Given the description of an element on the screen output the (x, y) to click on. 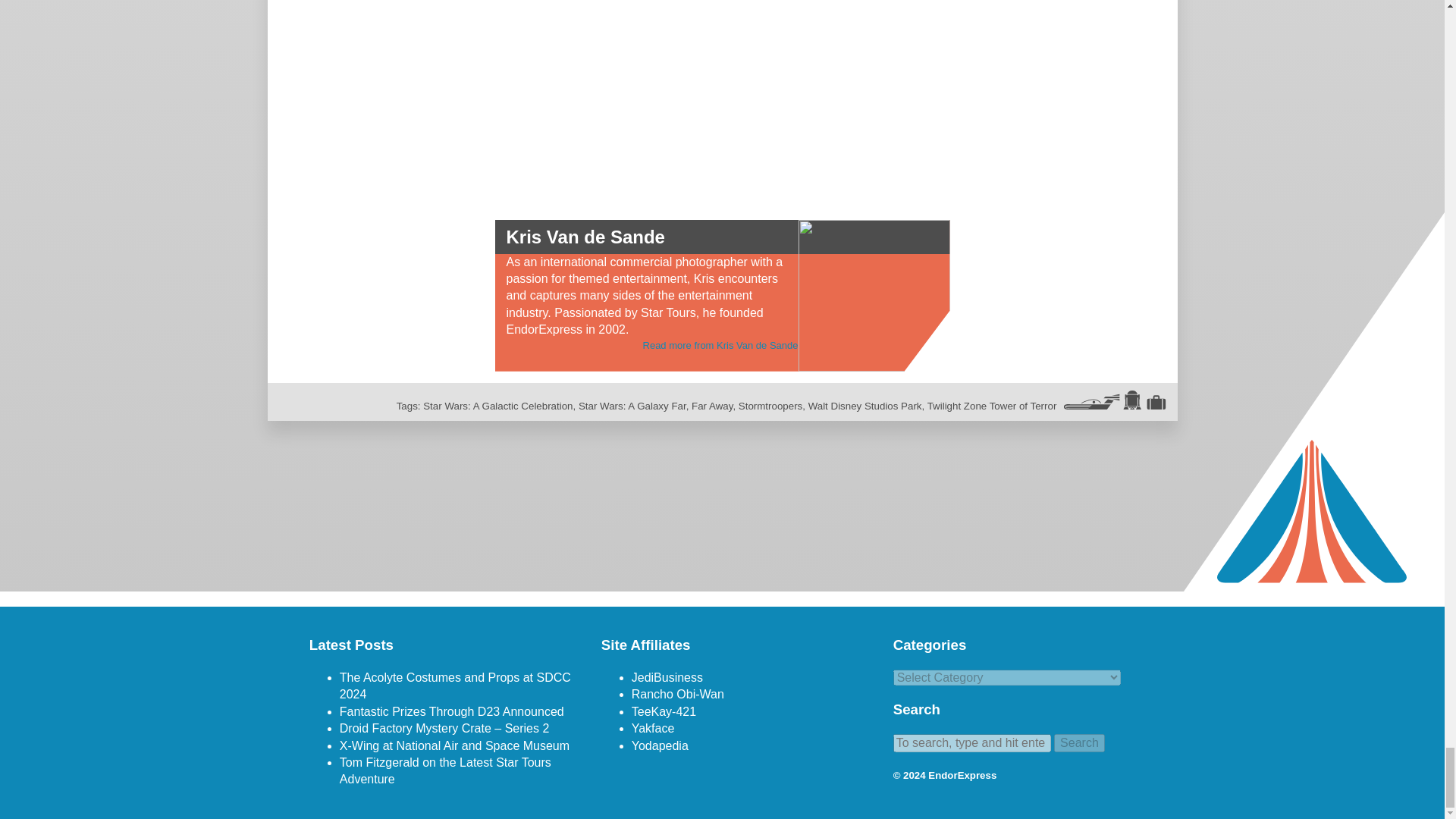
Walt Disney Studios Park (864, 405)
The Star Wars Action Figure Database (667, 676)
Twilight Zone Tower of Terror (992, 405)
Read more from Kris Van de Sande (720, 345)
Yodapedia (659, 745)
Fantastic Prizes Through D23 Announced (451, 711)
Serving Star Wars Collectors Worldwide (653, 727)
Star Wars: A Galaxy Far (631, 405)
Rancho Obi-Wan (677, 694)
Tom Fitzgerald on the Latest Star Tours Adventure (445, 770)
